Given the description of an element on the screen output the (x, y) to click on. 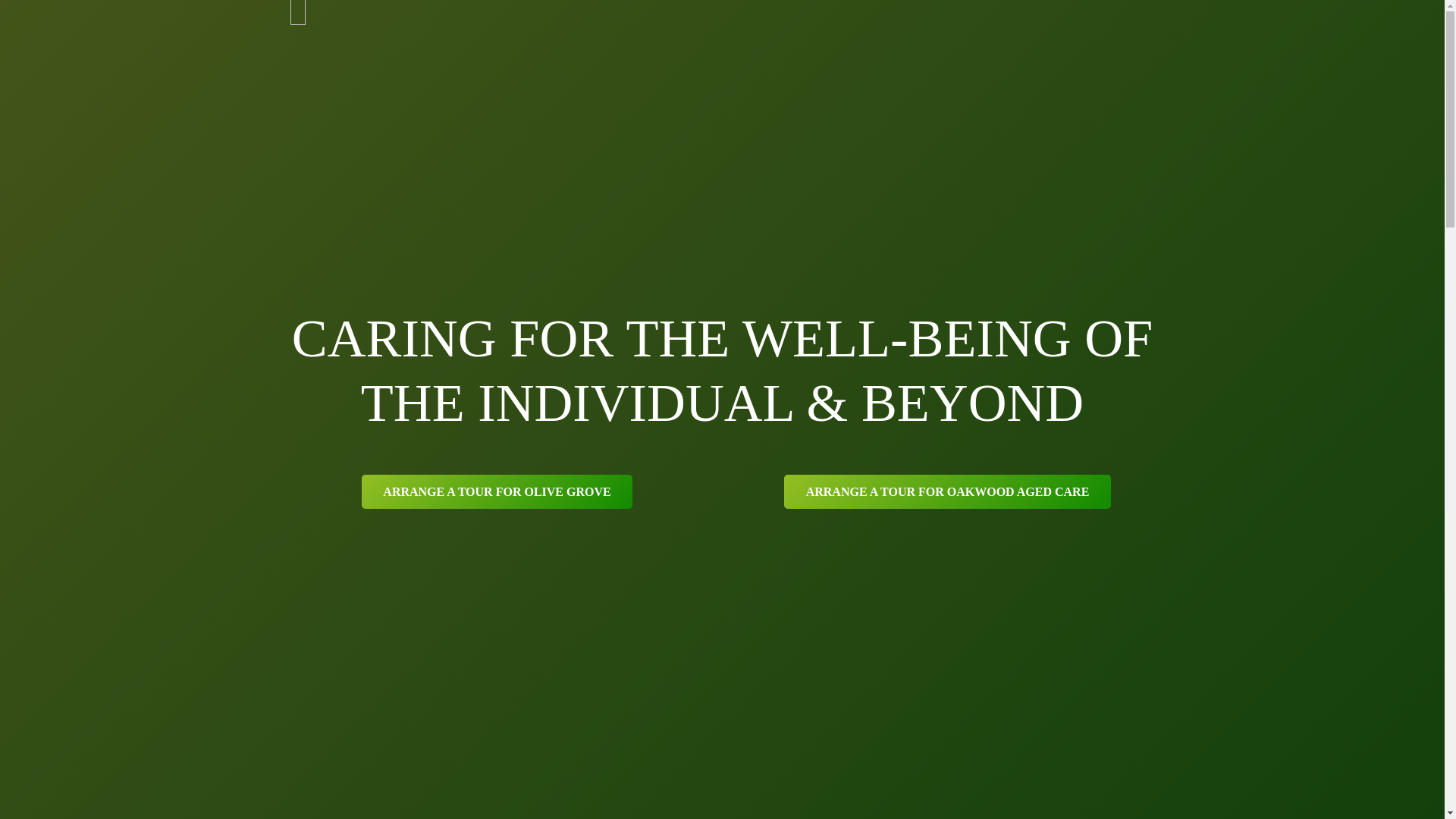
ARRANGE A TOUR FOR OLIVE GROVE Element type: text (497, 491)
ARRANGE A TOUR FOR OAKWOOD AGED CARE Element type: text (947, 491)
